Given the description of an element on the screen output the (x, y) to click on. 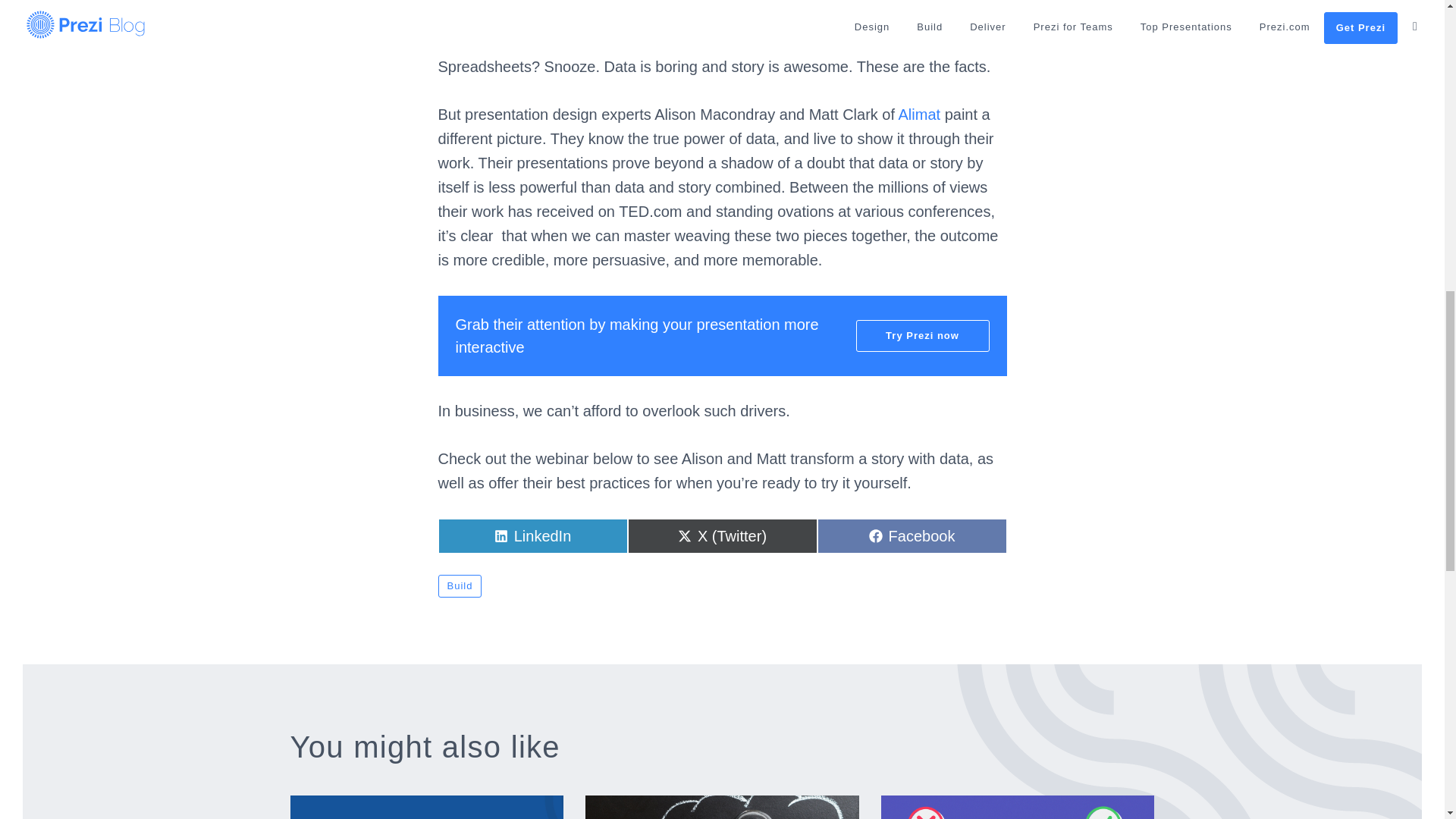
Alimat (911, 535)
Build (919, 114)
Try Prezi now (459, 585)
